Given the description of an element on the screen output the (x, y) to click on. 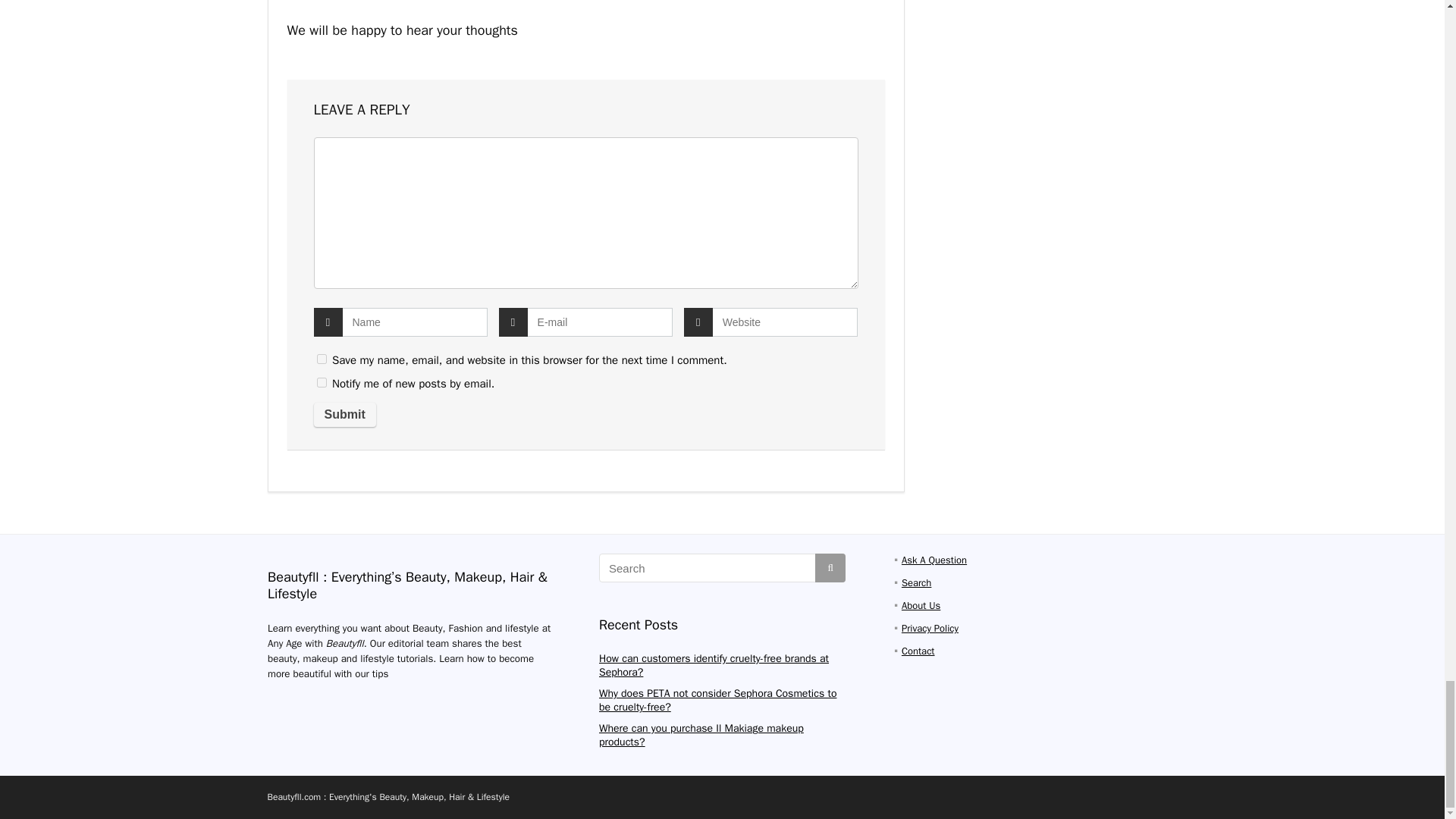
yes (321, 358)
Submit (344, 414)
subscribe (321, 382)
Submit (344, 414)
